Given the description of an element on the screen output the (x, y) to click on. 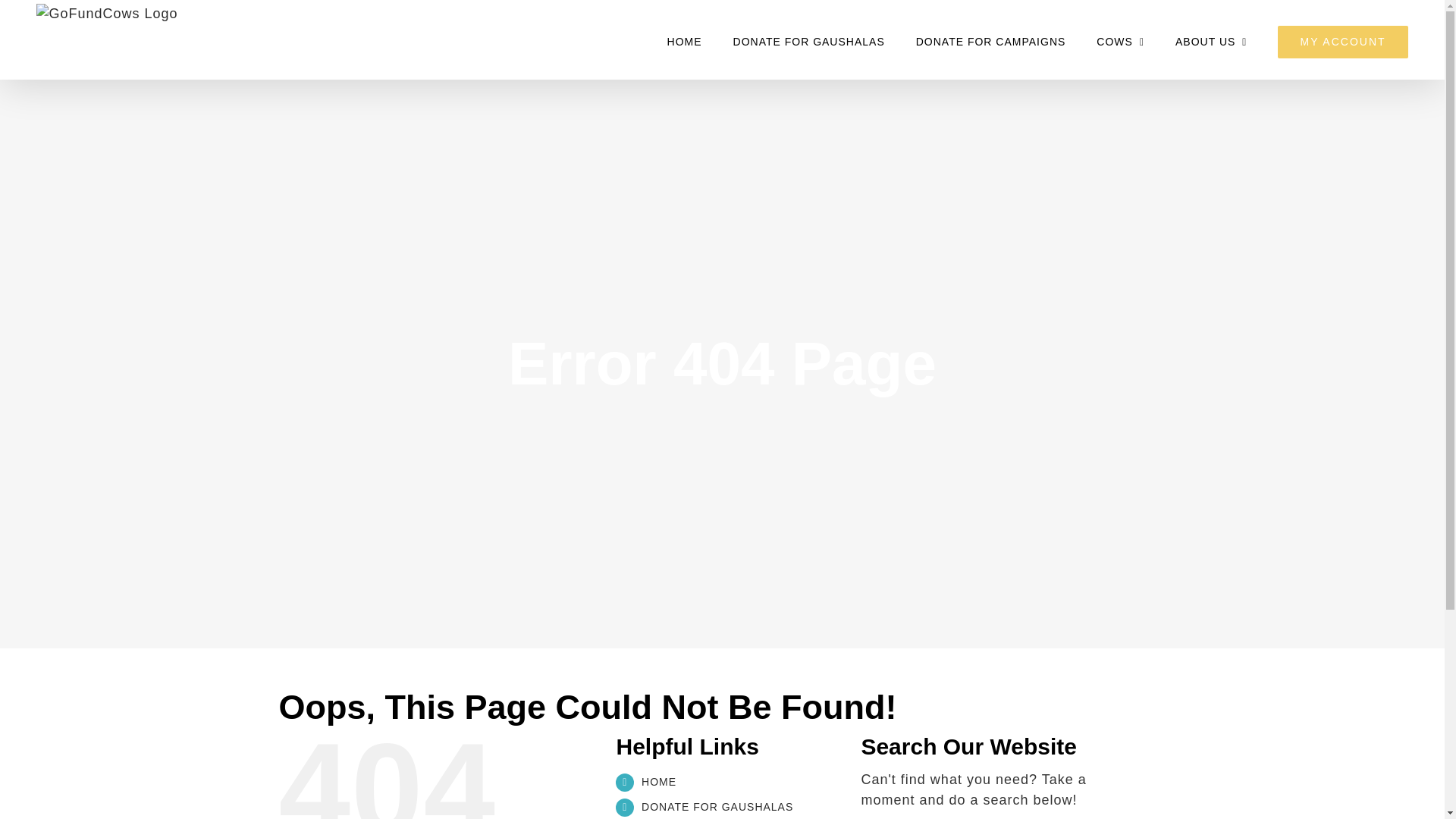
HOME (659, 781)
DONATE FOR GAUSHALAS (809, 41)
DONATE FOR CAMPAIGNS (990, 41)
DONATE FOR GAUSHALAS (717, 806)
MY ACCOUNT (1342, 41)
ABOUT US (1210, 41)
